Given the description of an element on the screen output the (x, y) to click on. 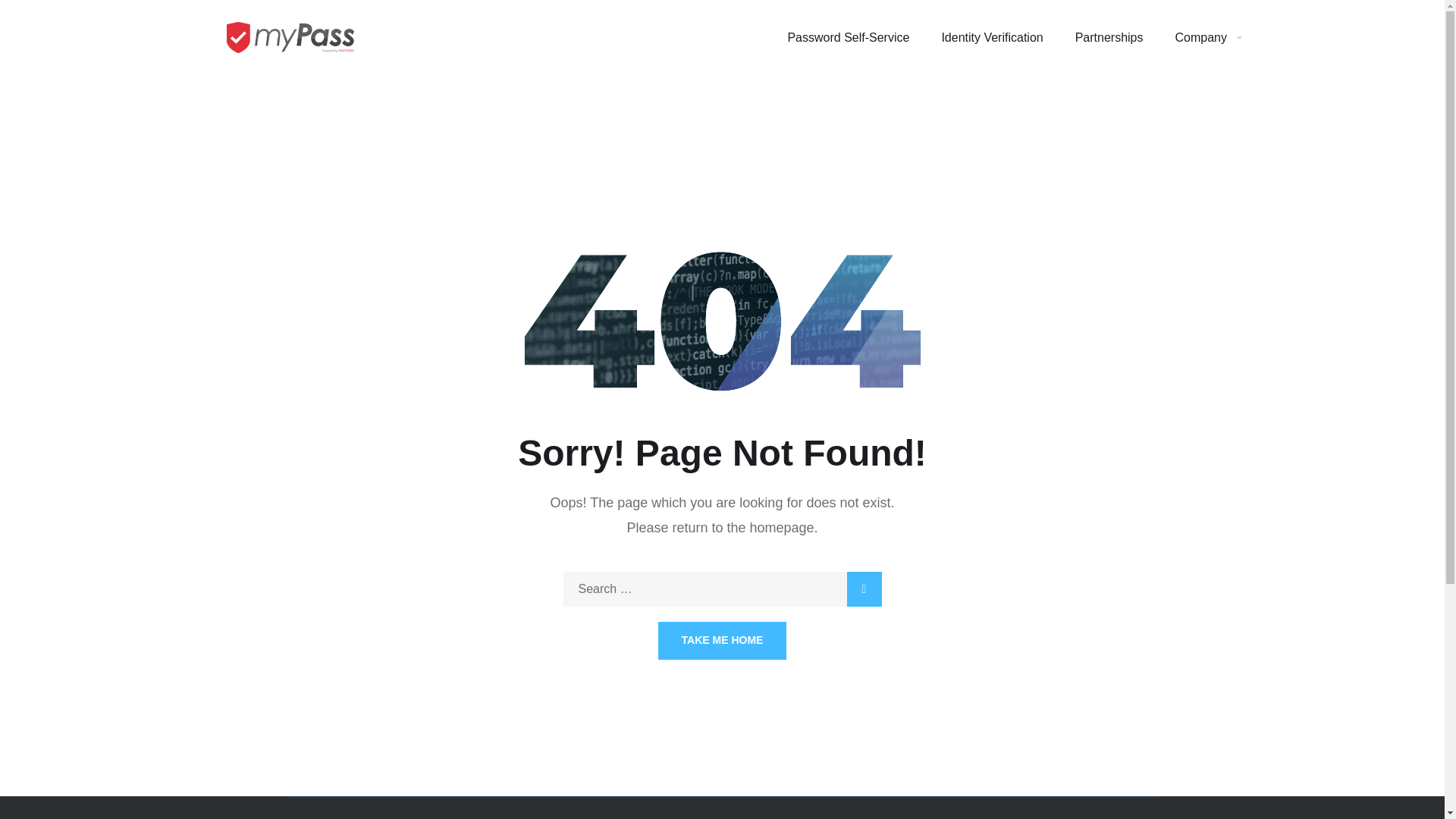
TAKE ME HOME (722, 640)
Identity Verification (991, 37)
Password Self-Service (847, 37)
Partnerships (1108, 37)
